Given the description of an element on the screen output the (x, y) to click on. 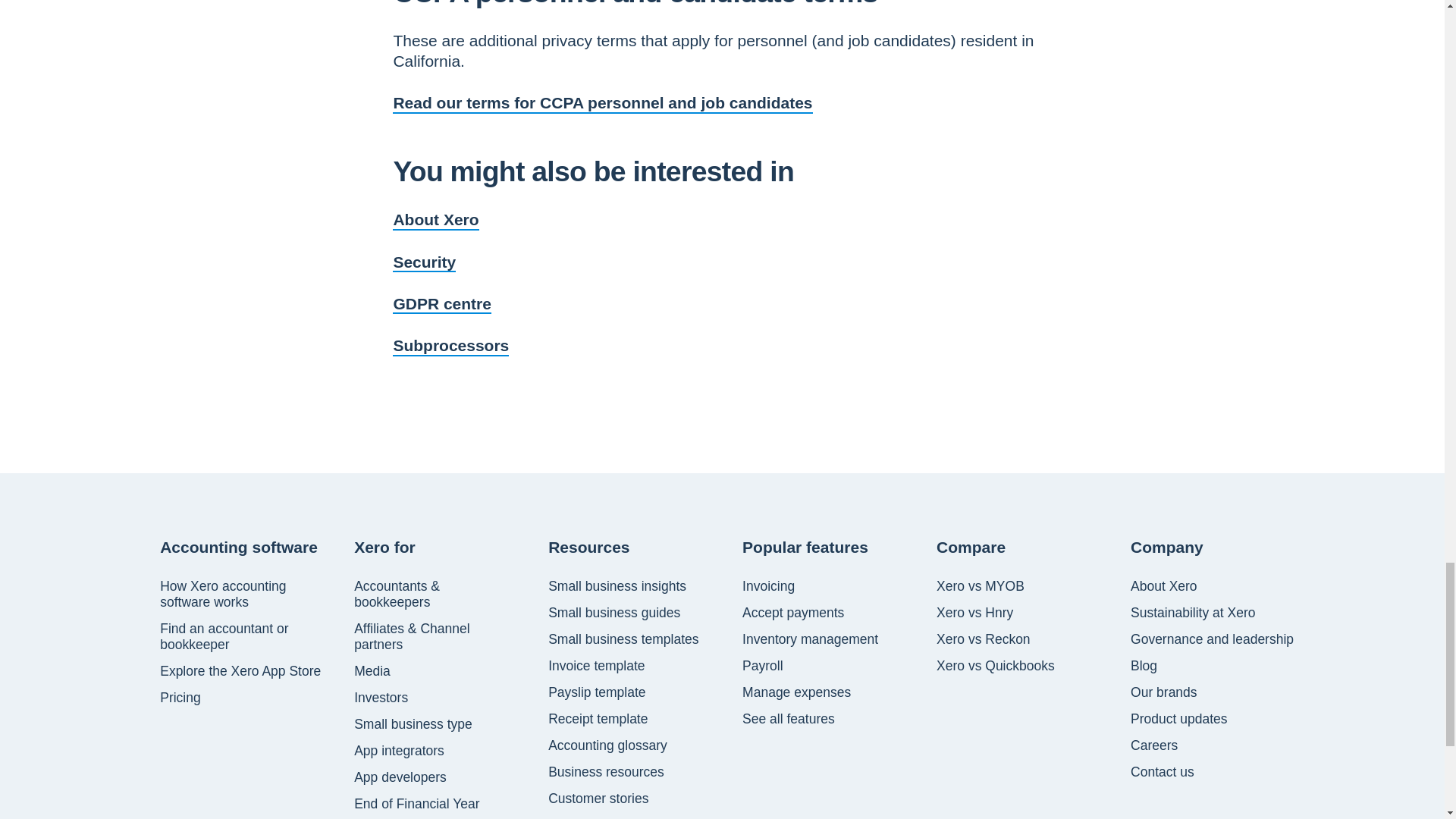
Read our terms for CCPA personnel and job candidates (602, 102)
GDPR centre (442, 303)
About Xero (436, 219)
Investors (380, 697)
Find an accountant or bookkeeper (242, 636)
Pricing (180, 697)
Security (424, 262)
Subprocessors (450, 344)
Explore the Xero App Store (240, 671)
Media (371, 671)
Small business type (412, 724)
How Xero accounting software works (242, 594)
App integrators (398, 750)
